Given the description of an element on the screen output the (x, y) to click on. 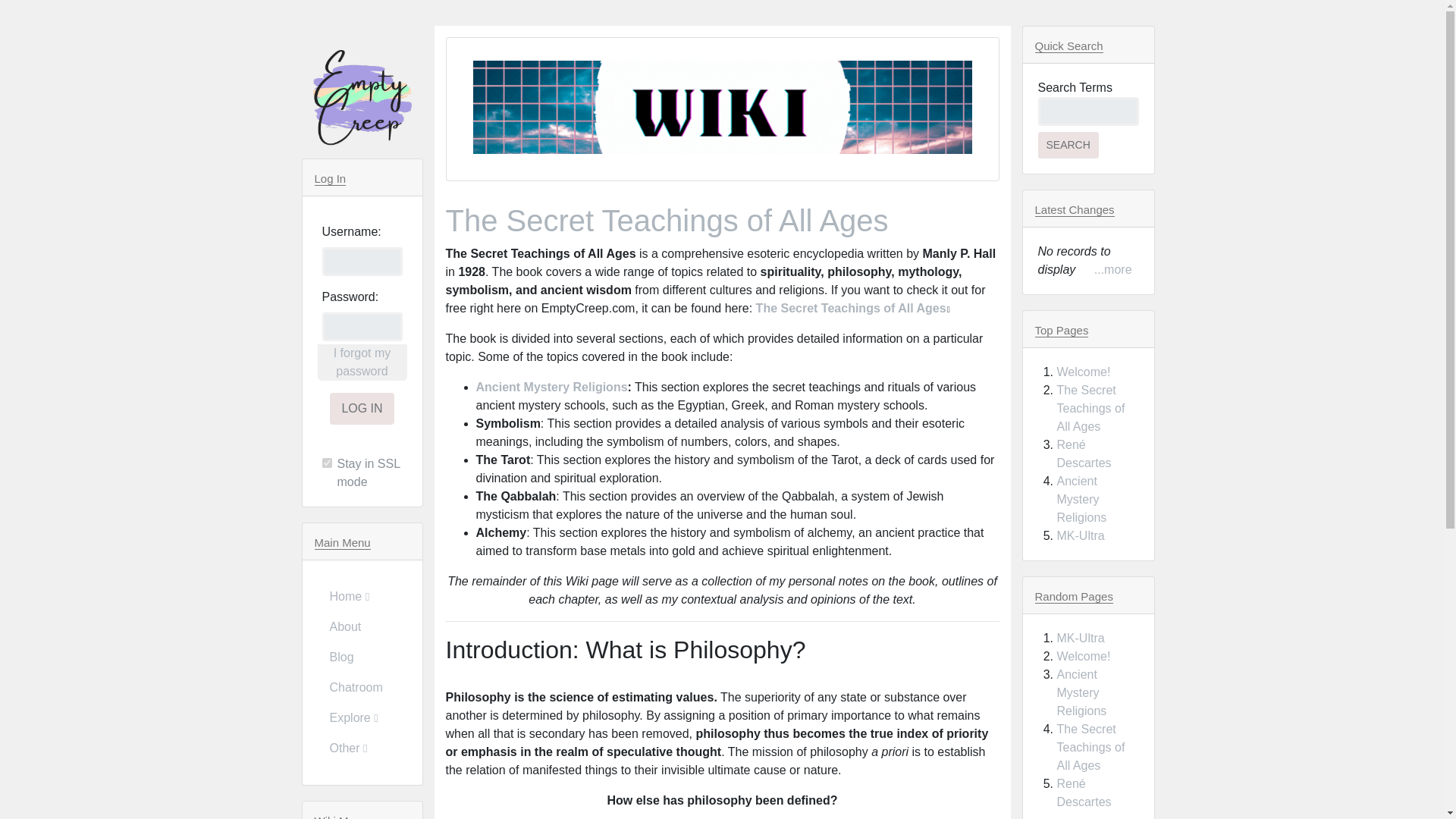
Blog (361, 657)
Other  (361, 748)
Home  (361, 596)
Unlike Any Other Place (362, 97)
About (361, 626)
Unlike Any Other Place (721, 107)
Chatroom (361, 687)
Search (1066, 144)
on (326, 462)
refresh (666, 220)
